Given the description of an element on the screen output the (x, y) to click on. 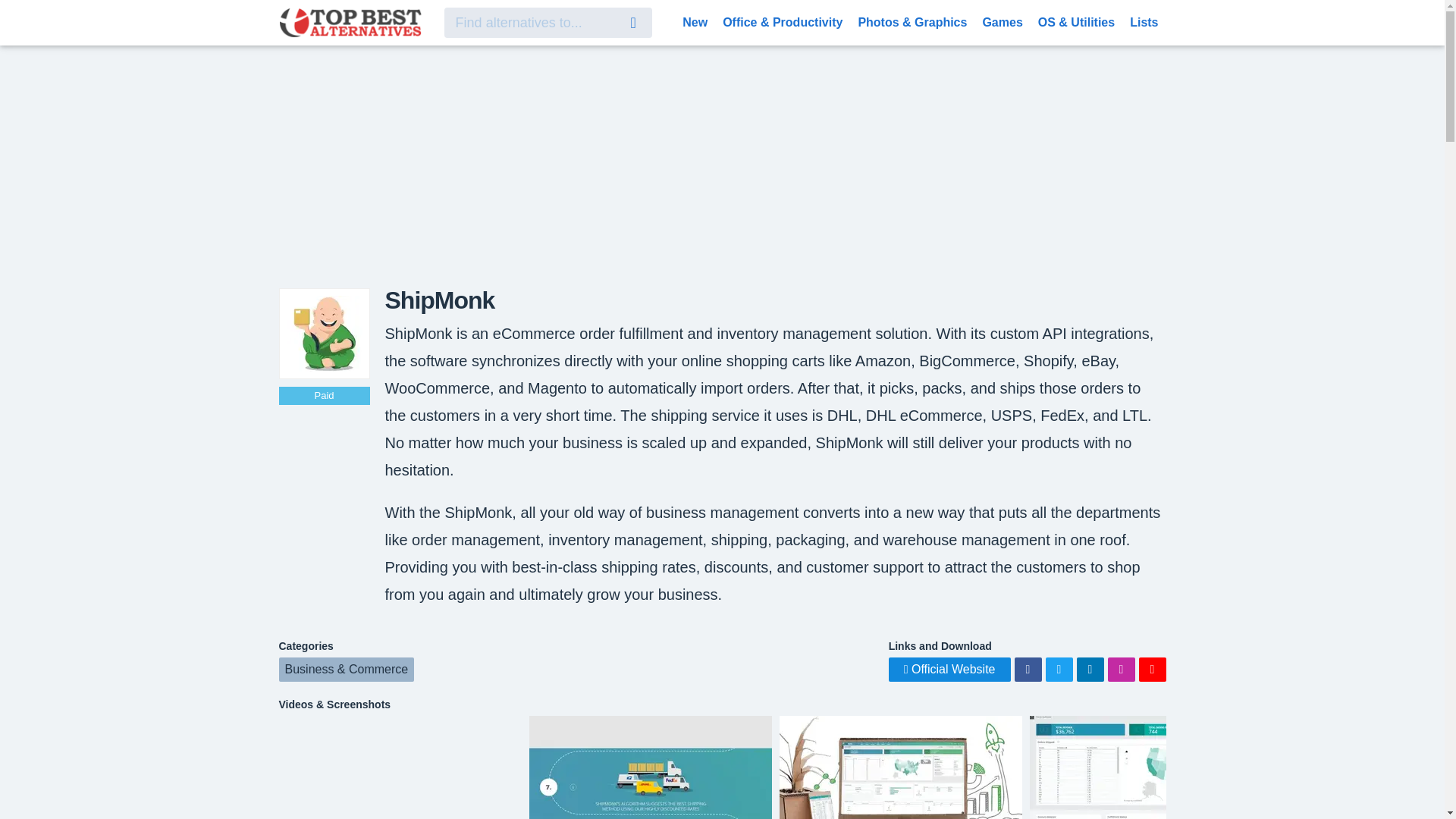
Twitter (1058, 669)
Linkedin (1090, 669)
Instagram (1120, 669)
Official Website (949, 669)
Youtube (1152, 669)
Facebook (1028, 669)
New (694, 21)
Games (1001, 21)
Lists (1144, 21)
